Given the description of an element on the screen output the (x, y) to click on. 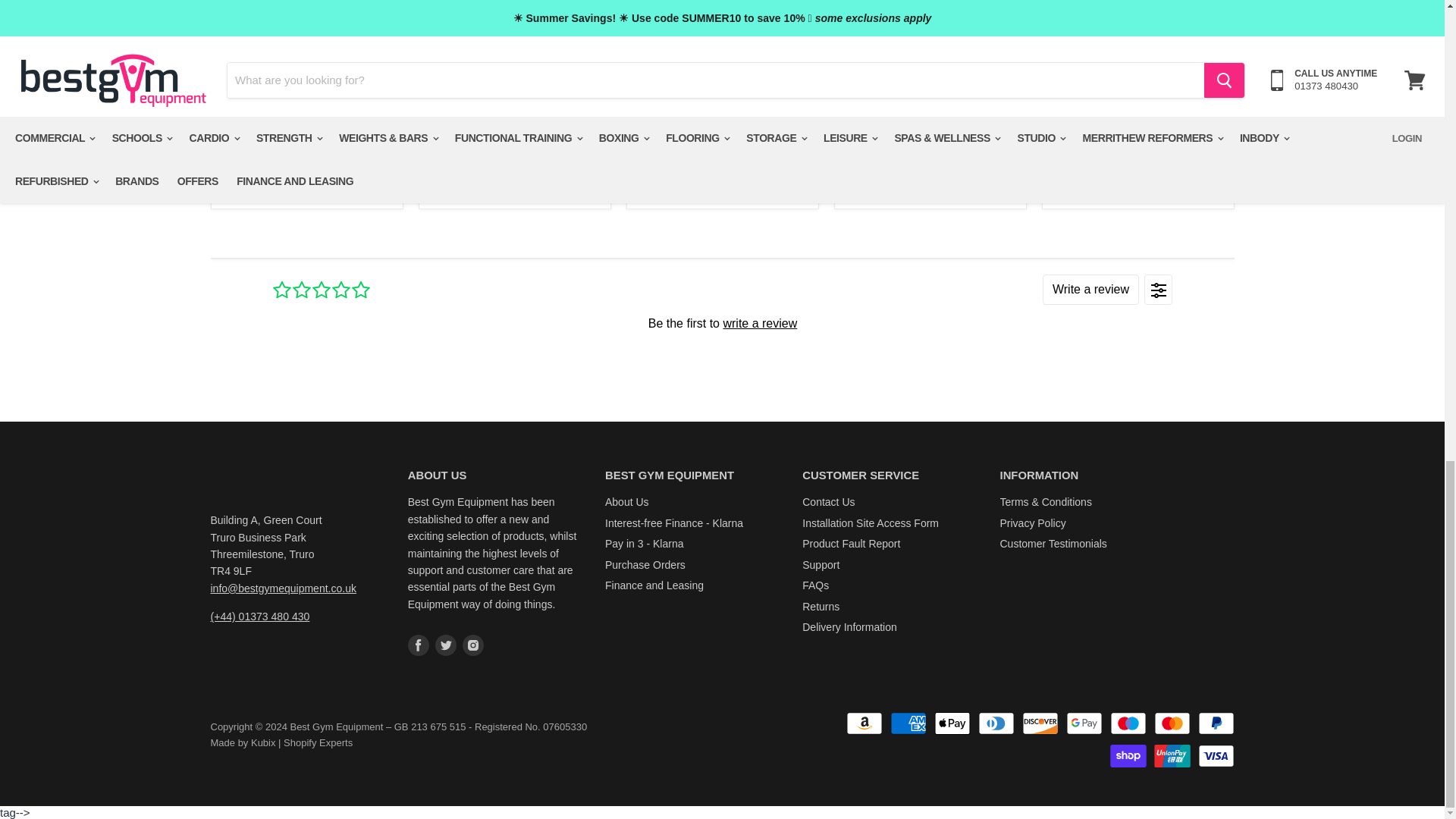
Facebook (418, 645)
Twitter (446, 645)
Product reviews widget (721, 322)
Instagram (473, 645)
tel:01373480430 (260, 616)
